Given the description of an element on the screen output the (x, y) to click on. 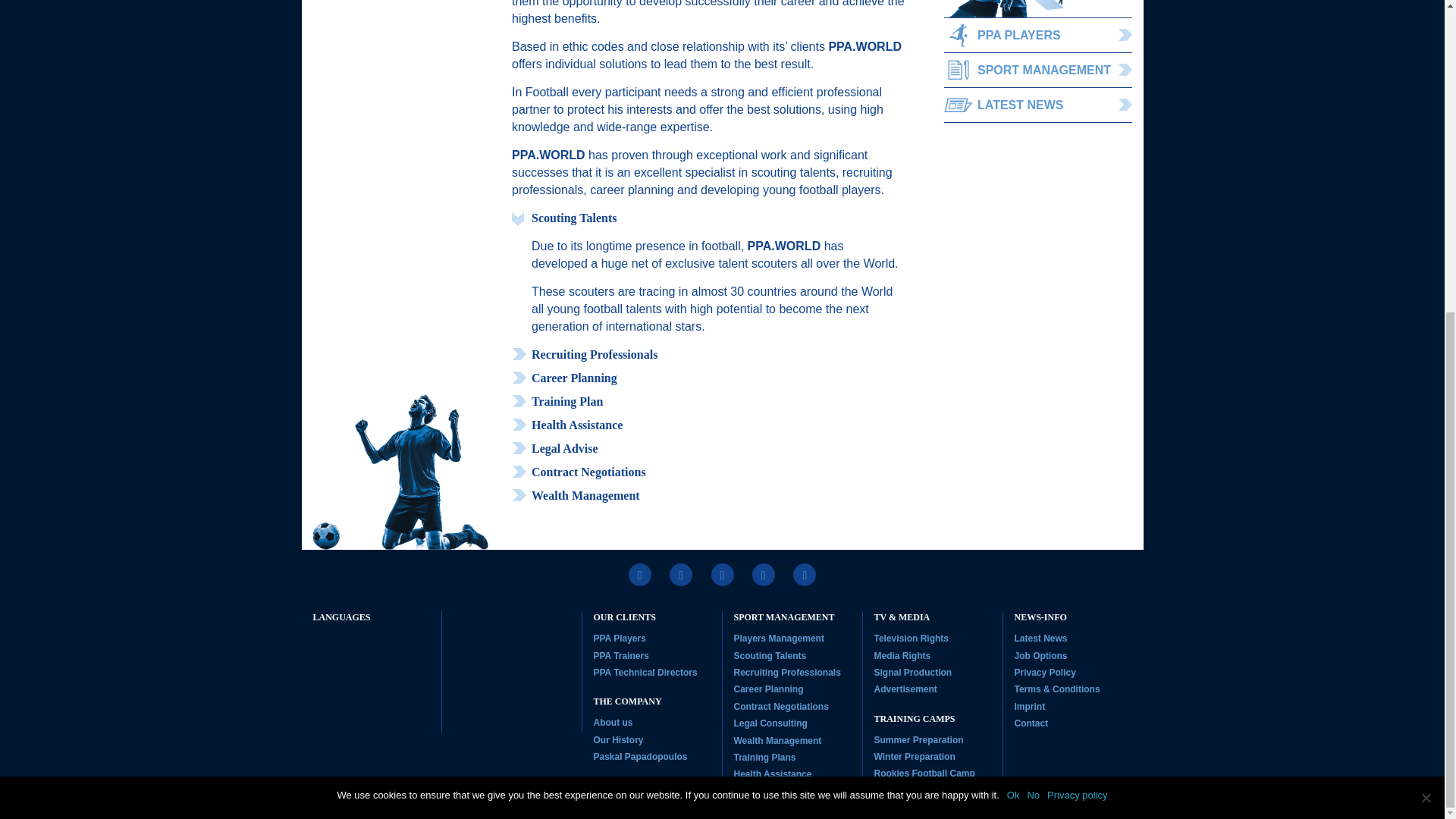
PPA Trainers (619, 655)
No (1425, 299)
PPA Players (618, 638)
PPA Technical Directors (644, 672)
PPA PLAYERS (1037, 34)
LATEST NEWS (1037, 105)
SPORT MANAGEMENT (1037, 69)
